Given the description of an element on the screen output the (x, y) to click on. 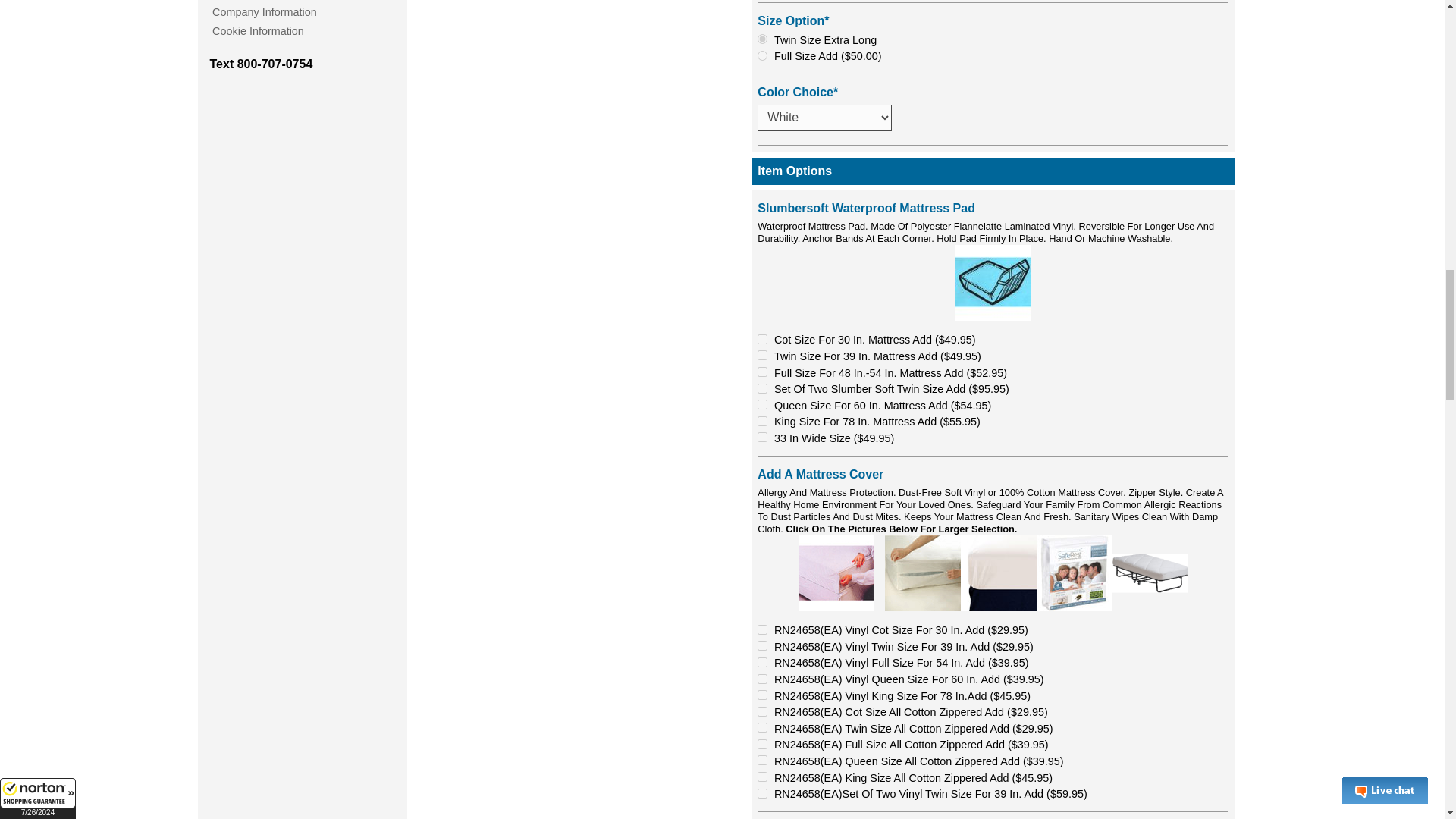
mattpad-37c30fdffe2373f21d391660ea1acf62 (762, 404)
mattpad-9aa6d386d545dd594a97cc6f015bc335 (762, 371)
W000809827wf-0f9c8b690660508e43e4215e0e654195 (762, 39)
mattpad-ad8ca104e8c7c48426d606eafb8ab9fc (762, 338)
mattpad-e665feb36c3403f6dbecc97bee3a05bb (762, 388)
sfvnmattcov-61fe27cd22cc4cc487c2a0b197f4f0c0 (762, 662)
Twin Size Extra Long (762, 39)
sfvnmattcov-b4b6c0b8868228ab066bcbe63c114258 (762, 695)
mattpad-e9b988ee0c402bf638ddf03ec93edcea (762, 437)
sfvnmattcov-d67af8a64d68be7eb9fe0e43f2a1b92a (762, 645)
sfvnmattcov-5509a4168cc7fa52b6bf392da7a95e7b (762, 629)
mattpad-e02547ead56bc9f50e096f6acbf56544 (762, 420)
Color Choice (824, 117)
mattpad-2031167b4da1e822a8b66923cf82e6b9 (762, 355)
W000809827wf-0ce801e7345d1b4b2984702265e0ea7e (762, 55)
